Given the description of an element on the screen output the (x, y) to click on. 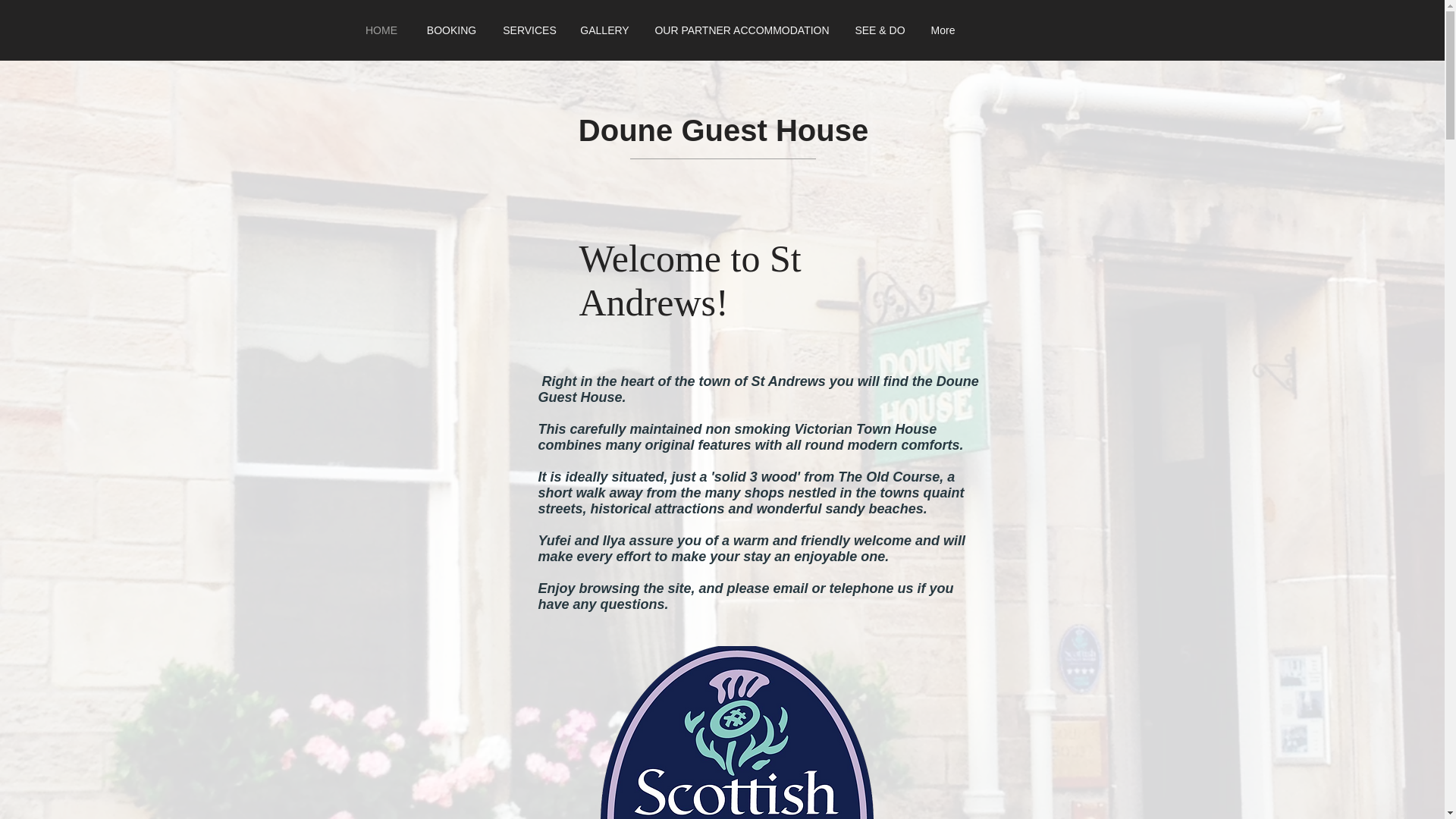
BOOKING (452, 29)
HOME (381, 29)
GALLERY (605, 29)
OUR PARTNER ACCOMMODATION (742, 29)
SERVICES (530, 29)
